Given the description of an element on the screen output the (x, y) to click on. 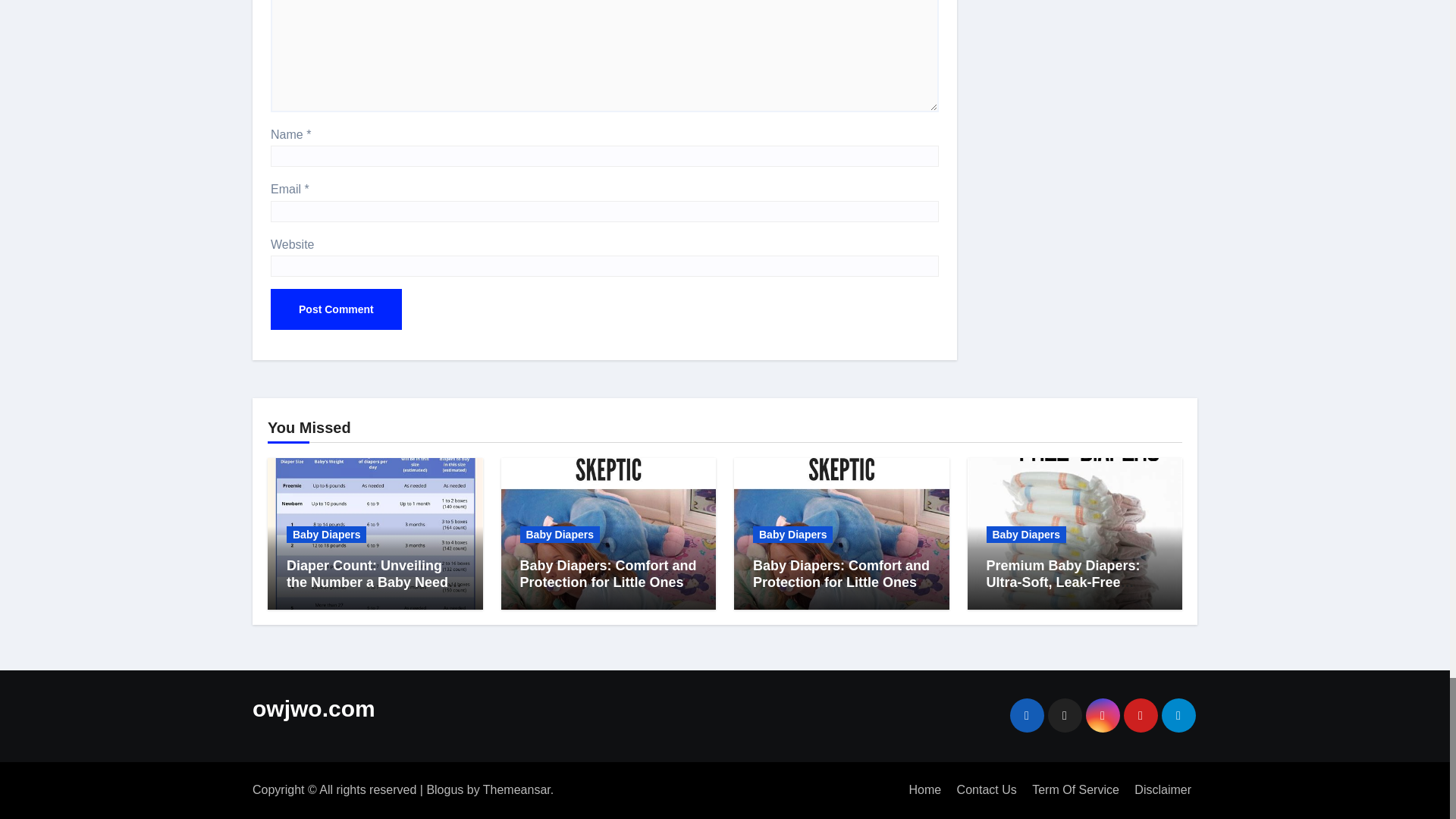
Post Comment (335, 309)
